Given the description of an element on the screen output the (x, y) to click on. 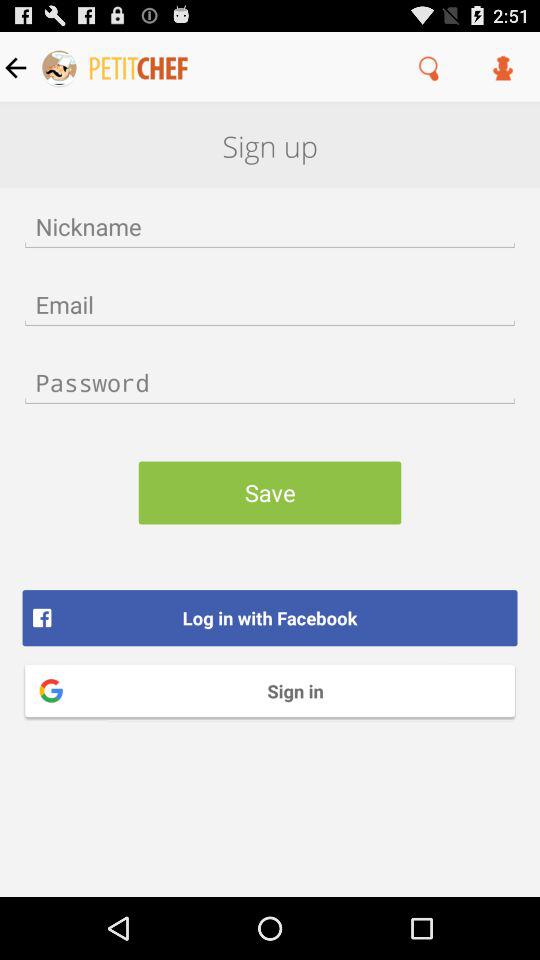
enter password (269, 382)
